Given the description of an element on the screen output the (x, y) to click on. 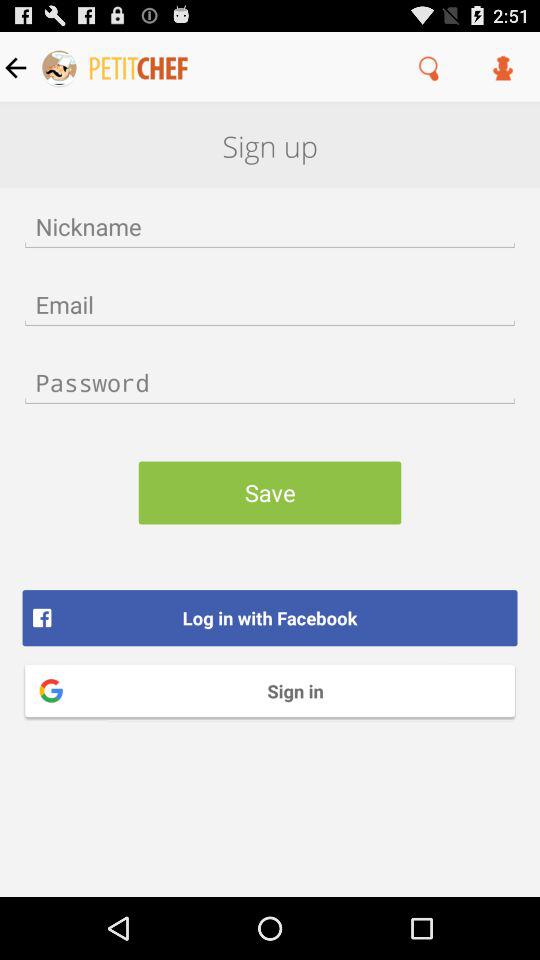
enter password (269, 382)
